Given the description of an element on the screen output the (x, y) to click on. 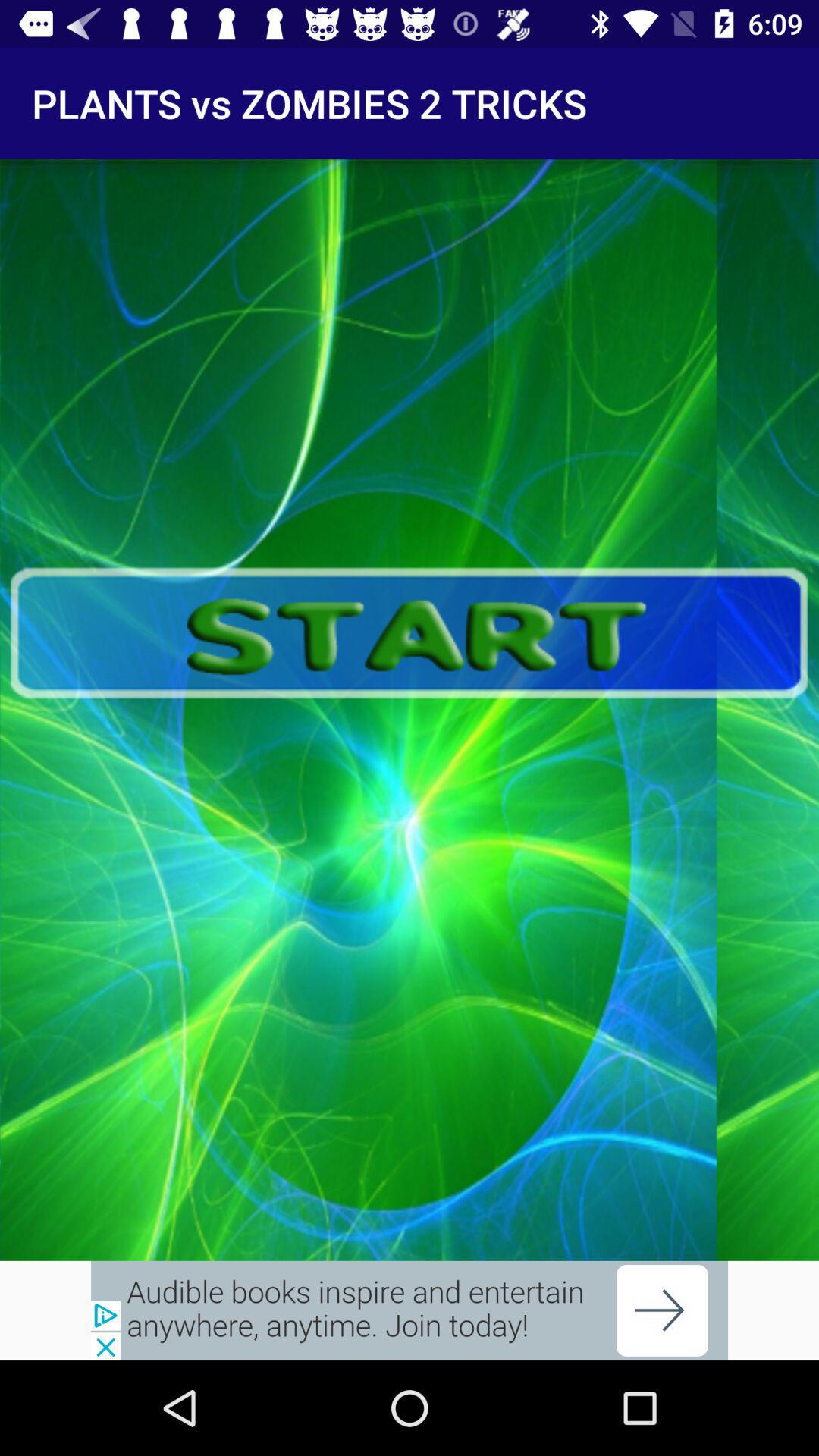
open advertisement (409, 1310)
